Given the description of an element on the screen output the (x, y) to click on. 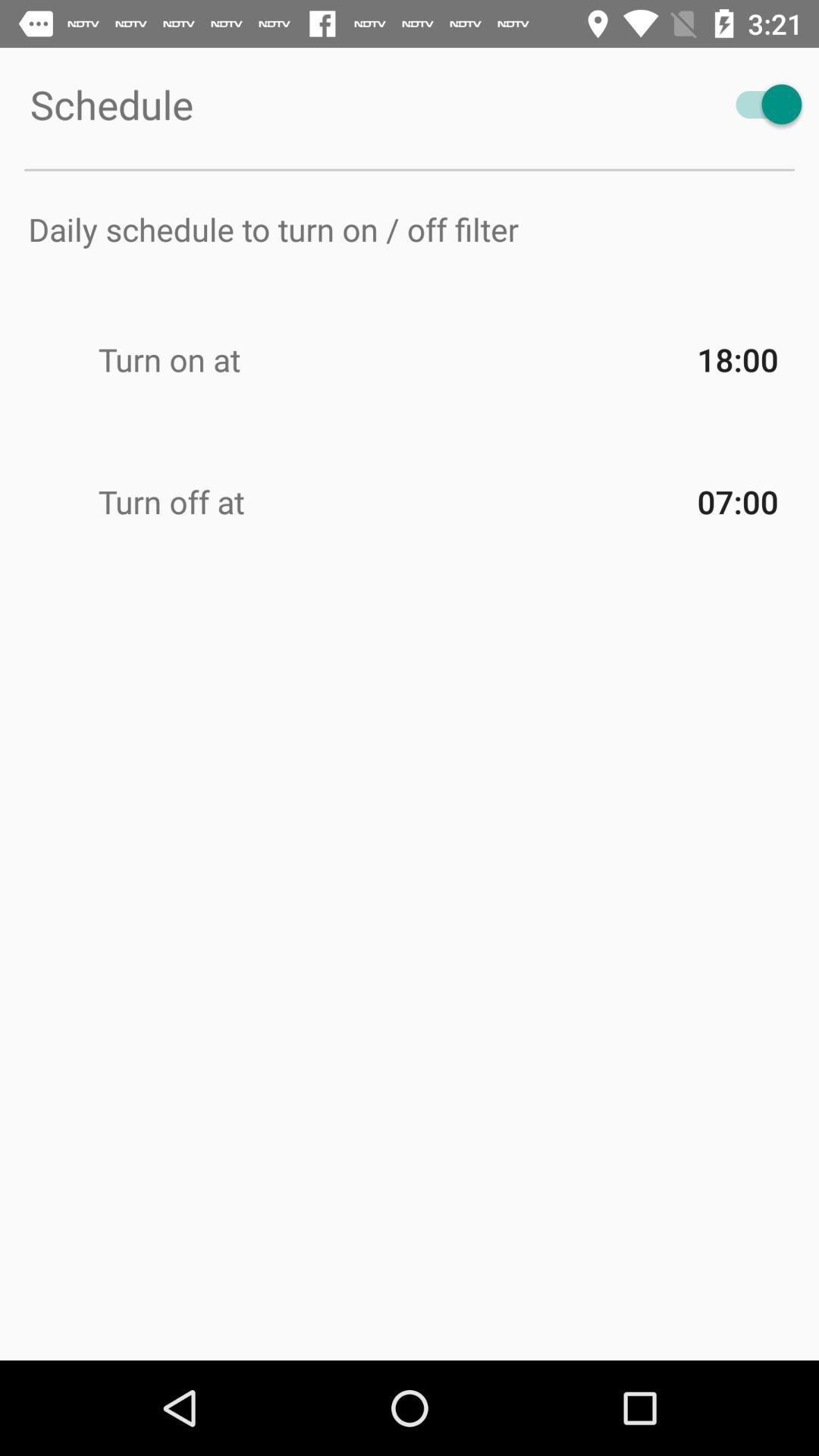
schedule notification toggle (761, 104)
